Given the description of an element on the screen output the (x, y) to click on. 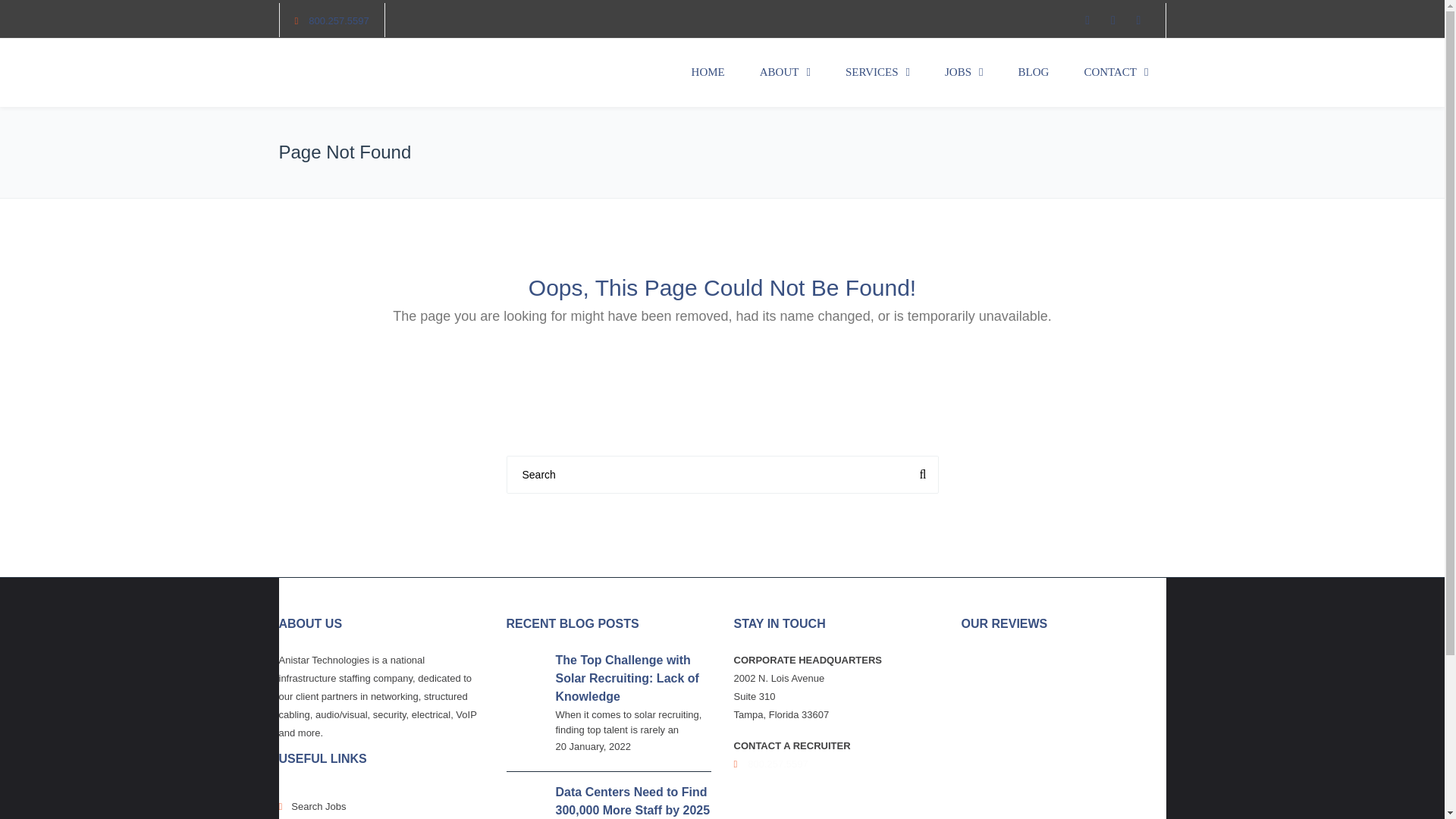
ABOUT (785, 72)
Data Centers Need to Find 300,000 More Staff by 2025 (632, 800)
CONTACT (1115, 72)
JOBS (964, 72)
HOME (708, 72)
SERVICES (877, 72)
Search Jobs (381, 802)
BLOG (1034, 72)
The Top Challenge with Solar Recruiting: Lack of Knowledge (626, 677)
800.257.5597 (338, 20)
